Given the description of an element on the screen output the (x, y) to click on. 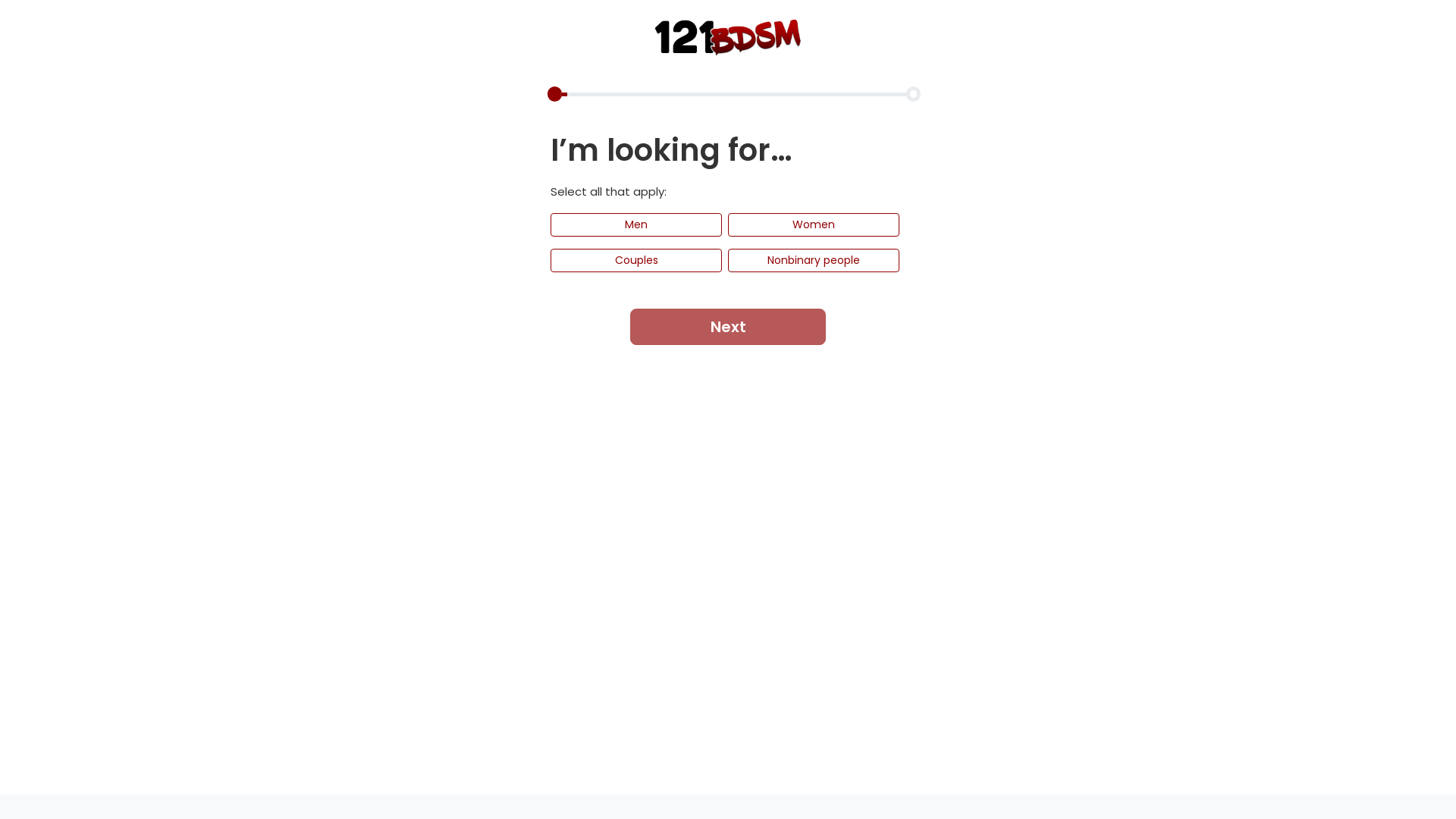
Nonbinary people Element type: text (813, 260)
Women Element type: text (813, 223)
Couples Element type: text (635, 260)
Men Element type: text (635, 223)
Next Element type: text (727, 325)
